Given the description of an element on the screen output the (x, y) to click on. 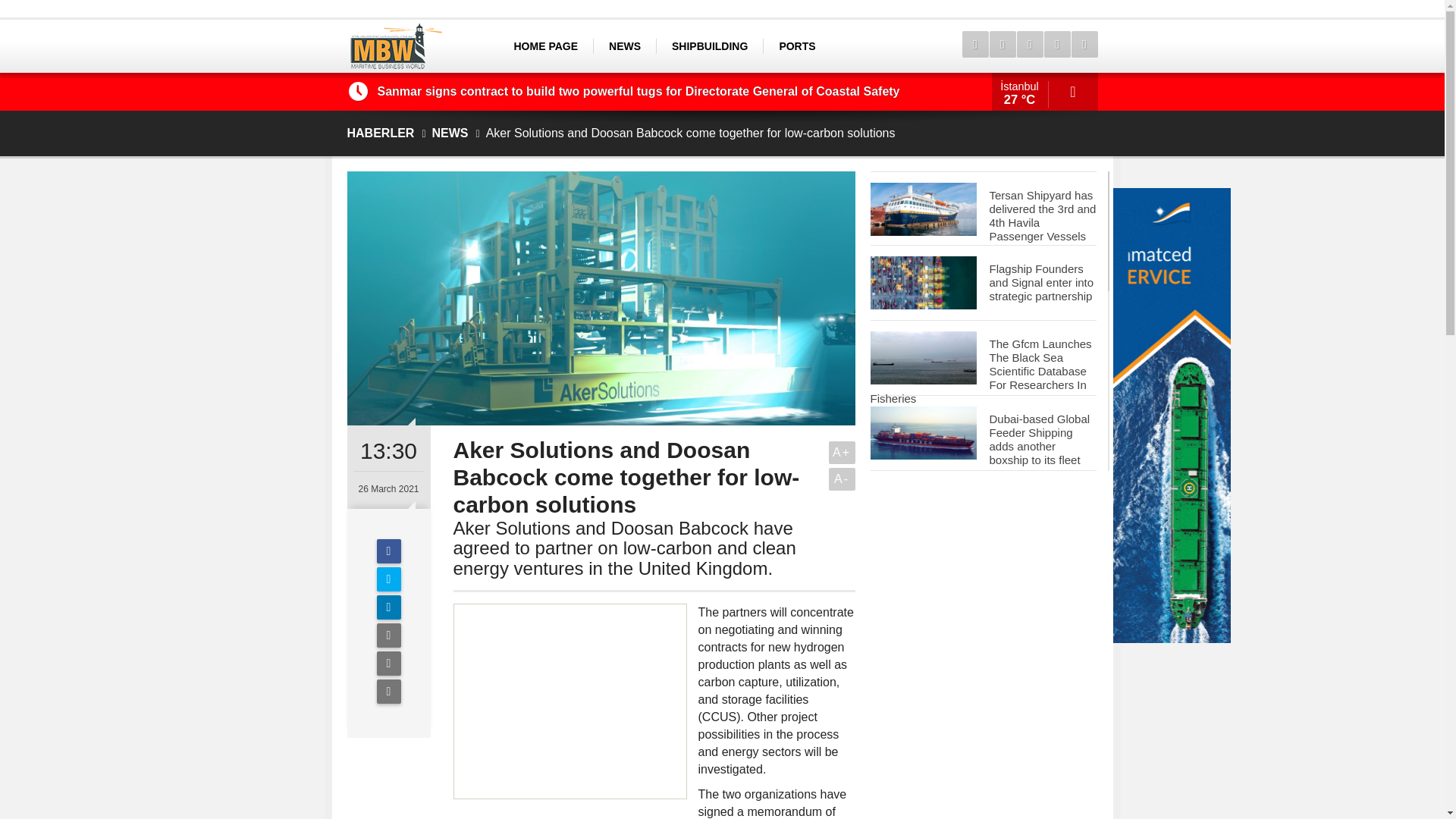
Hava durumu (1044, 91)
Advertisement (570, 701)
LinkedIn (387, 607)
NEWS (624, 46)
Menu (974, 44)
Web TV (1001, 44)
Yorum Yap (387, 691)
Facebook (387, 550)
Twitter (387, 579)
SHIPBUILDING (709, 46)
